Given the description of an element on the screen output the (x, y) to click on. 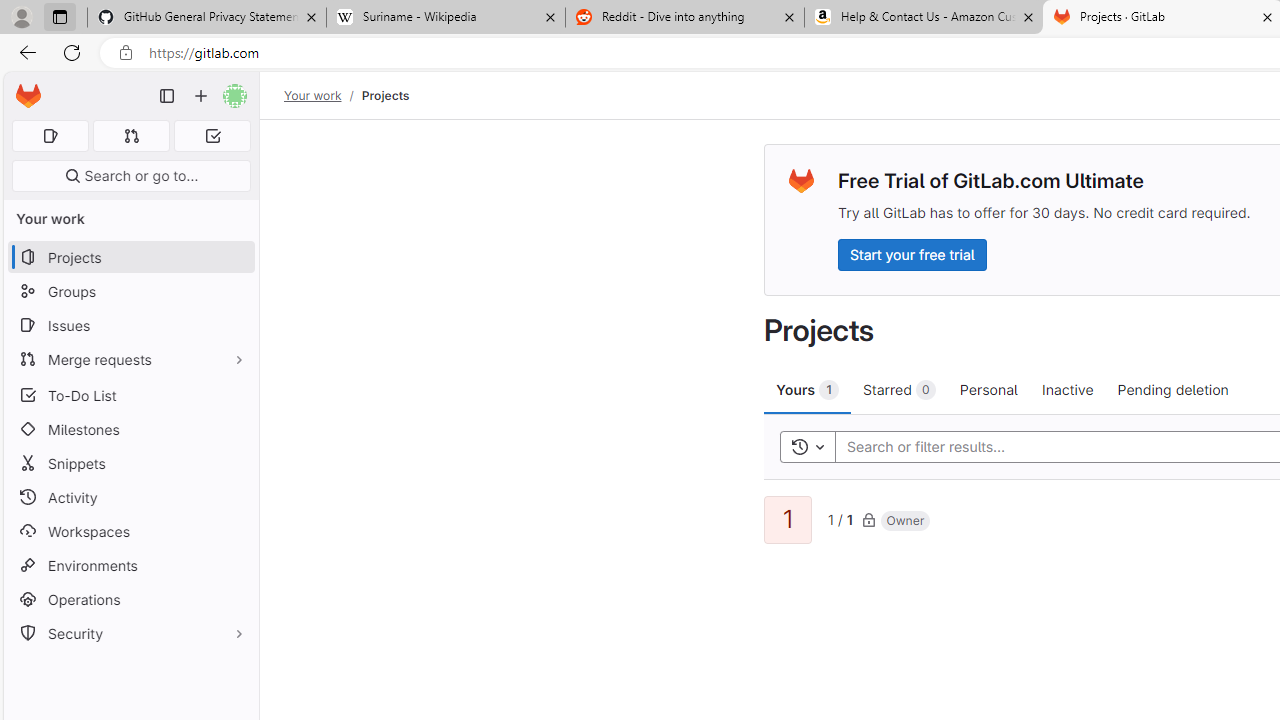
Skip to main content (23, 87)
Security (130, 633)
Suriname - Wikipedia (445, 17)
Merge requests (130, 358)
Issues (130, 325)
Snippets (130, 463)
Pending deletion (1172, 389)
To-Do List (130, 394)
GitHub General Privacy Statement - GitHub Docs (207, 17)
Reddit - Dive into anything (684, 17)
Operations (130, 599)
Start your free trial (912, 254)
Assigned issues 0 (50, 136)
